Given the description of an element on the screen output the (x, y) to click on. 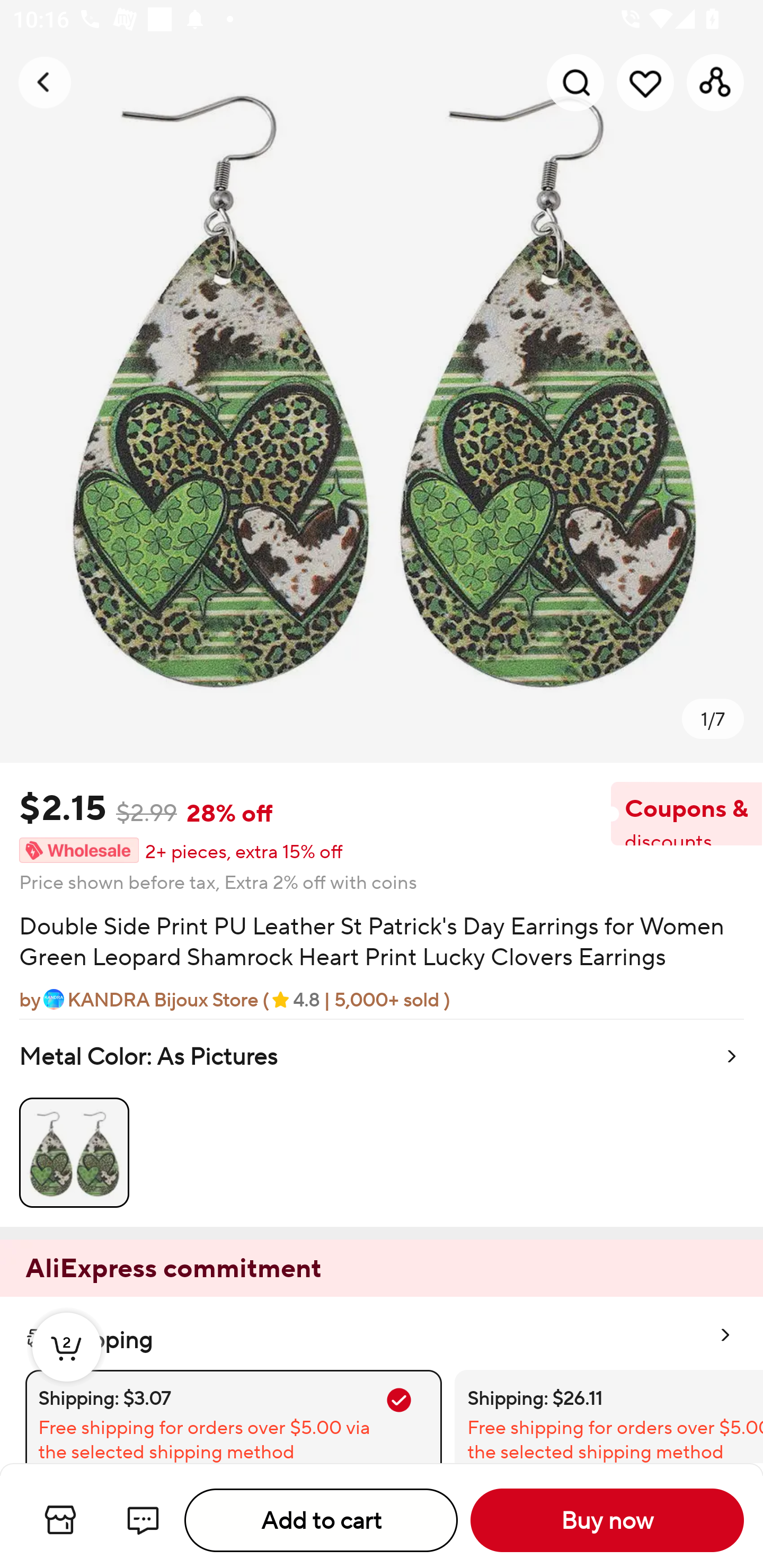
Navigate up (44, 82)
Metal Color: As Pictures  (381, 1122)
2 (66, 1366)
Add to cart (320, 1520)
Buy now (606, 1520)
